Given the description of an element on the screen output the (x, y) to click on. 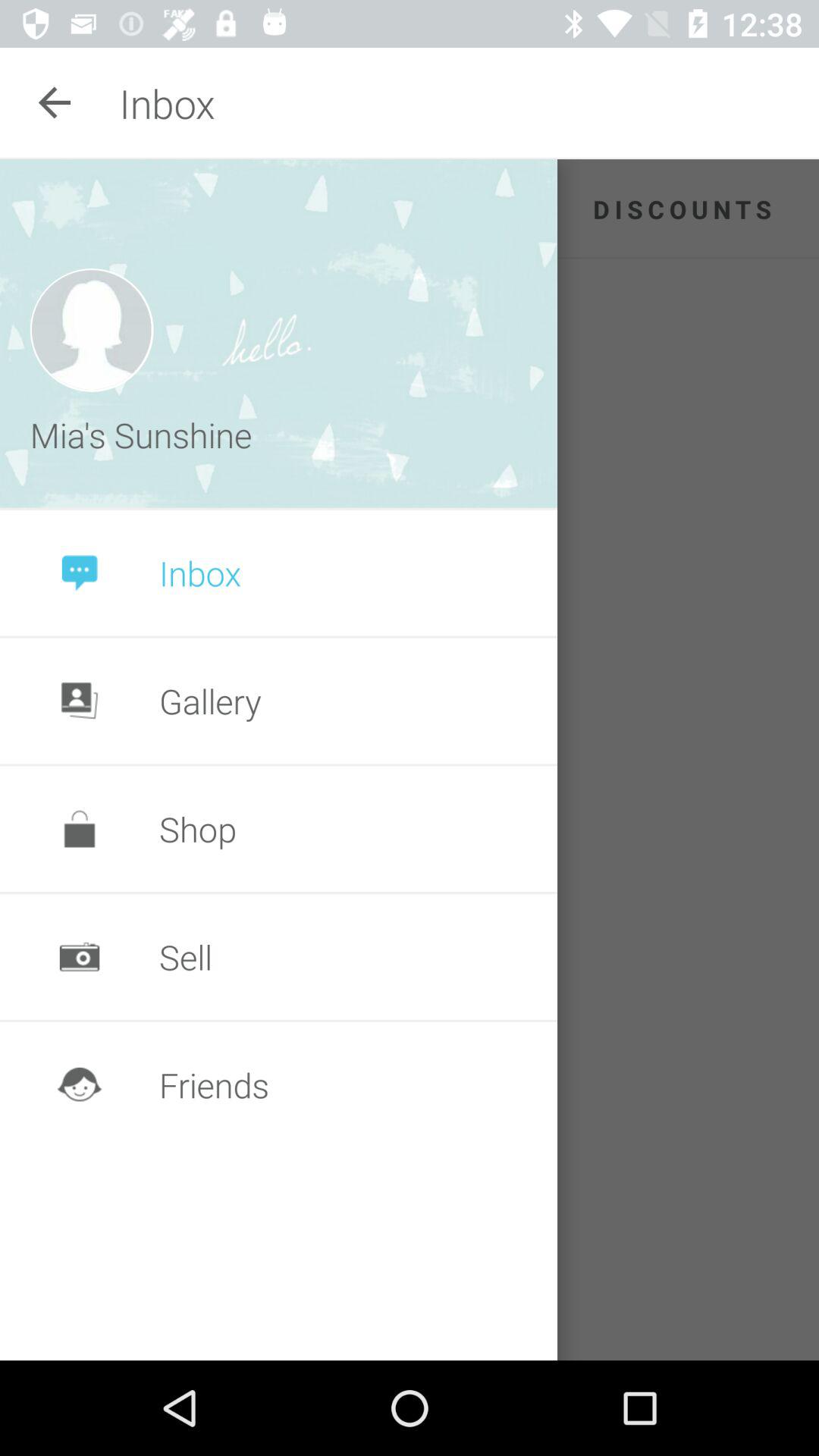
scroll until friends app (213, 1084)
